Given the description of an element on the screen output the (x, y) to click on. 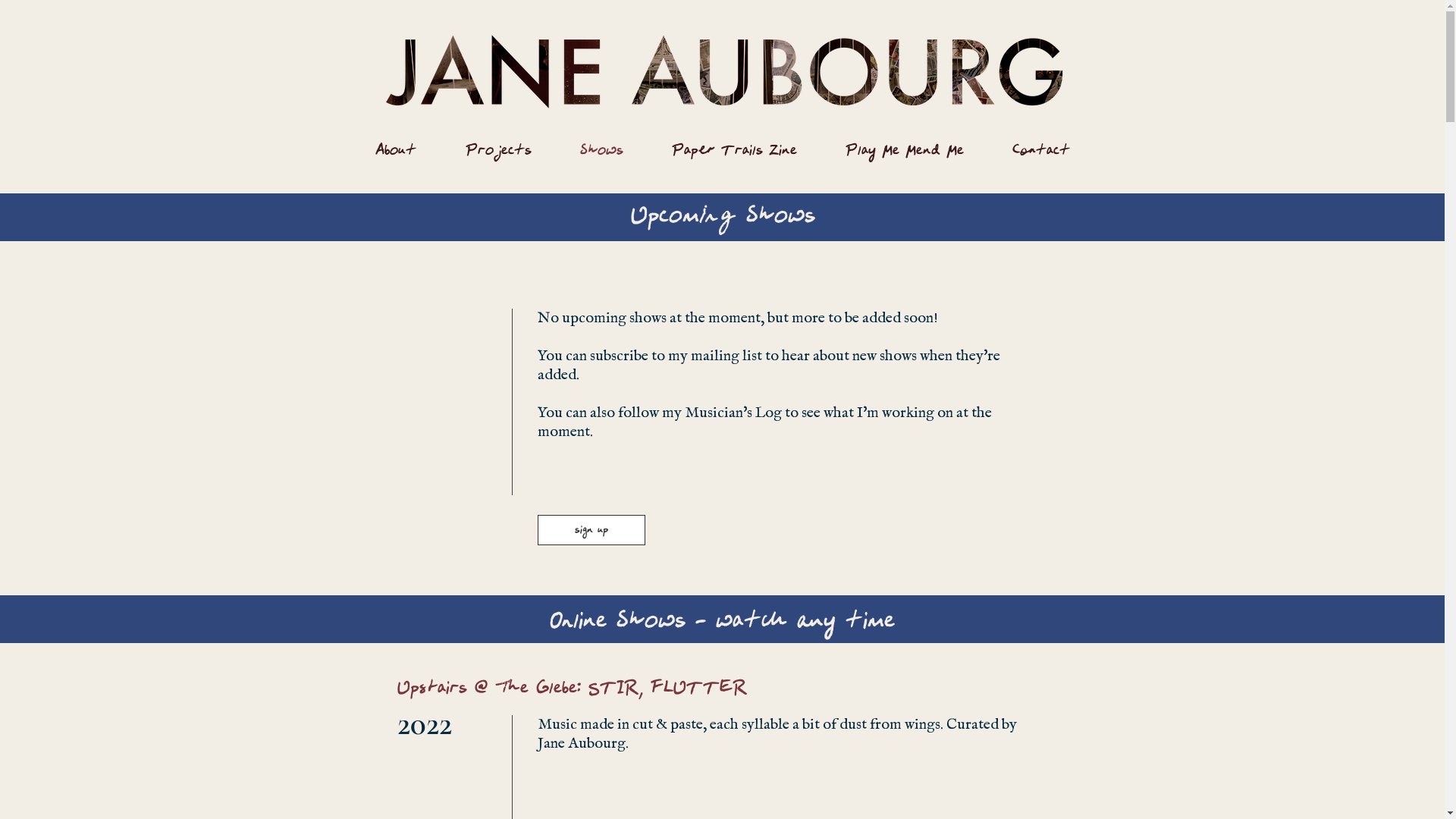
Online Shows - watch any time Element type: text (721, 621)
Paper Trails Zine Element type: text (734, 151)
Play Me Mend Me Element type: text (903, 151)
Upcoming Shows Element type: text (722, 216)
Shows Element type: text (600, 151)
Contact Element type: text (1040, 151)
About Element type: text (395, 151)
Projects Element type: text (498, 151)
sign up Element type: text (590, 529)
